Given the description of an element on the screen output the (x, y) to click on. 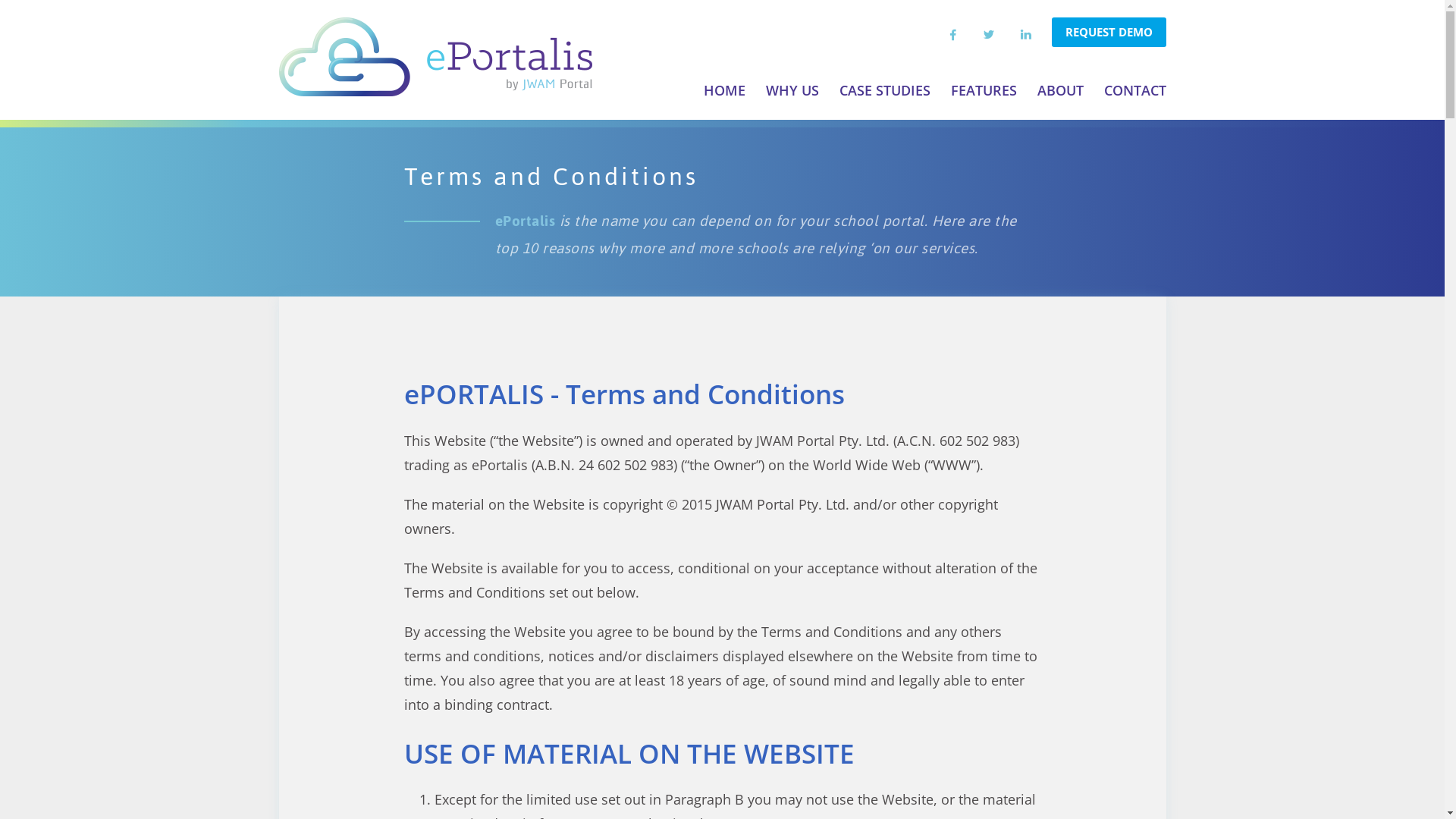
HOME Element type: text (724, 90)
ABOUT Element type: text (1060, 90)
CASE STUDIES Element type: text (883, 90)
WHY US Element type: text (792, 90)
FEATURES Element type: text (983, 90)
REQUEST DEMO Element type: text (1108, 32)
CONTACT Element type: text (1135, 90)
